Given the description of an element on the screen output the (x, y) to click on. 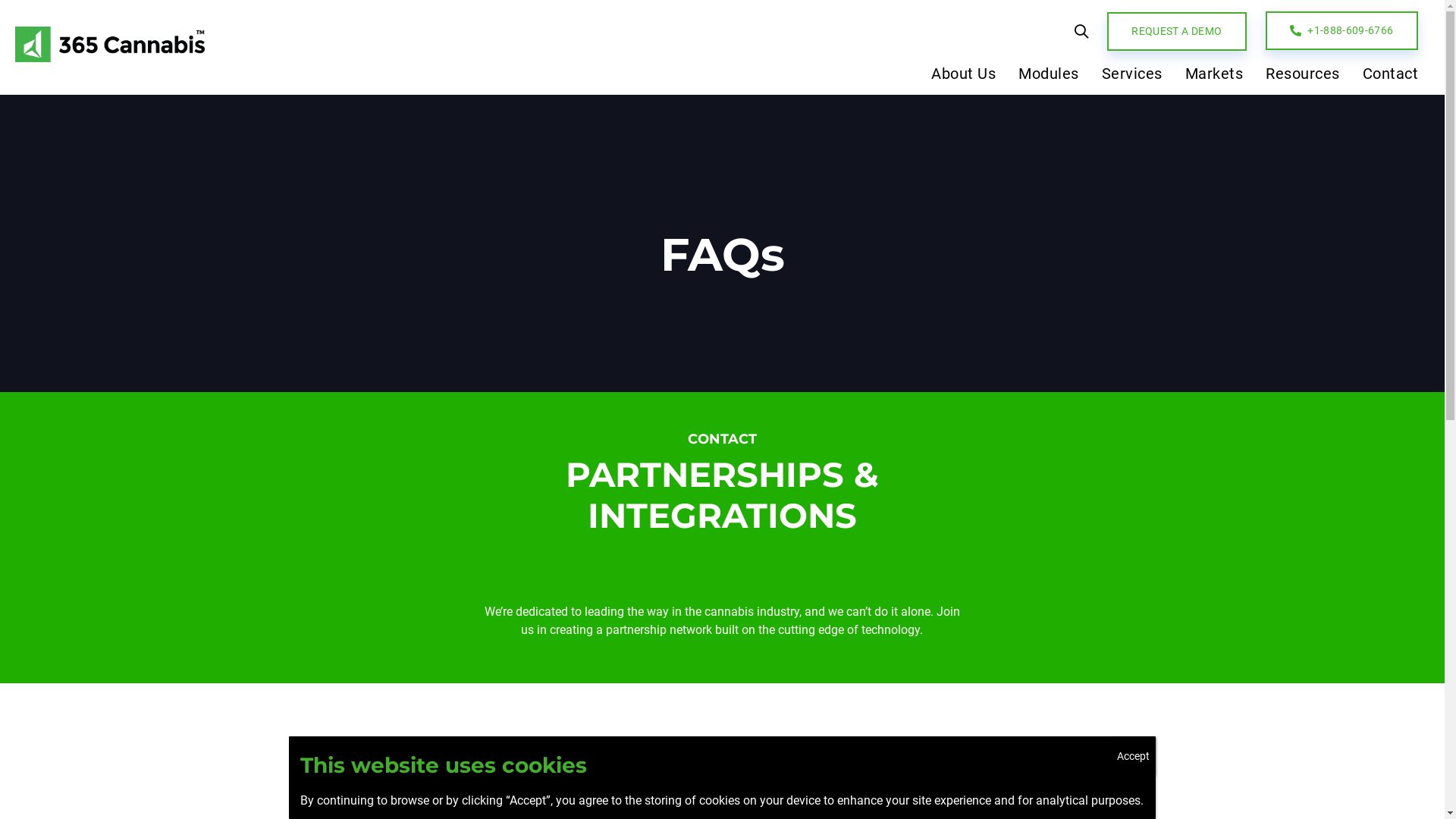
Markets Element type: text (1214, 76)
REQUEST A DEMO Element type: text (1176, 31)
Contact Element type: text (1384, 76)
Modules Element type: text (1048, 76)
Resources Element type: text (1302, 76)
About Us Element type: text (963, 76)
Services Element type: text (1131, 76)
Accept Element type: text (1132, 755)
+1-888-609-6766 Element type: text (1341, 30)
